Given the description of an element on the screen output the (x, y) to click on. 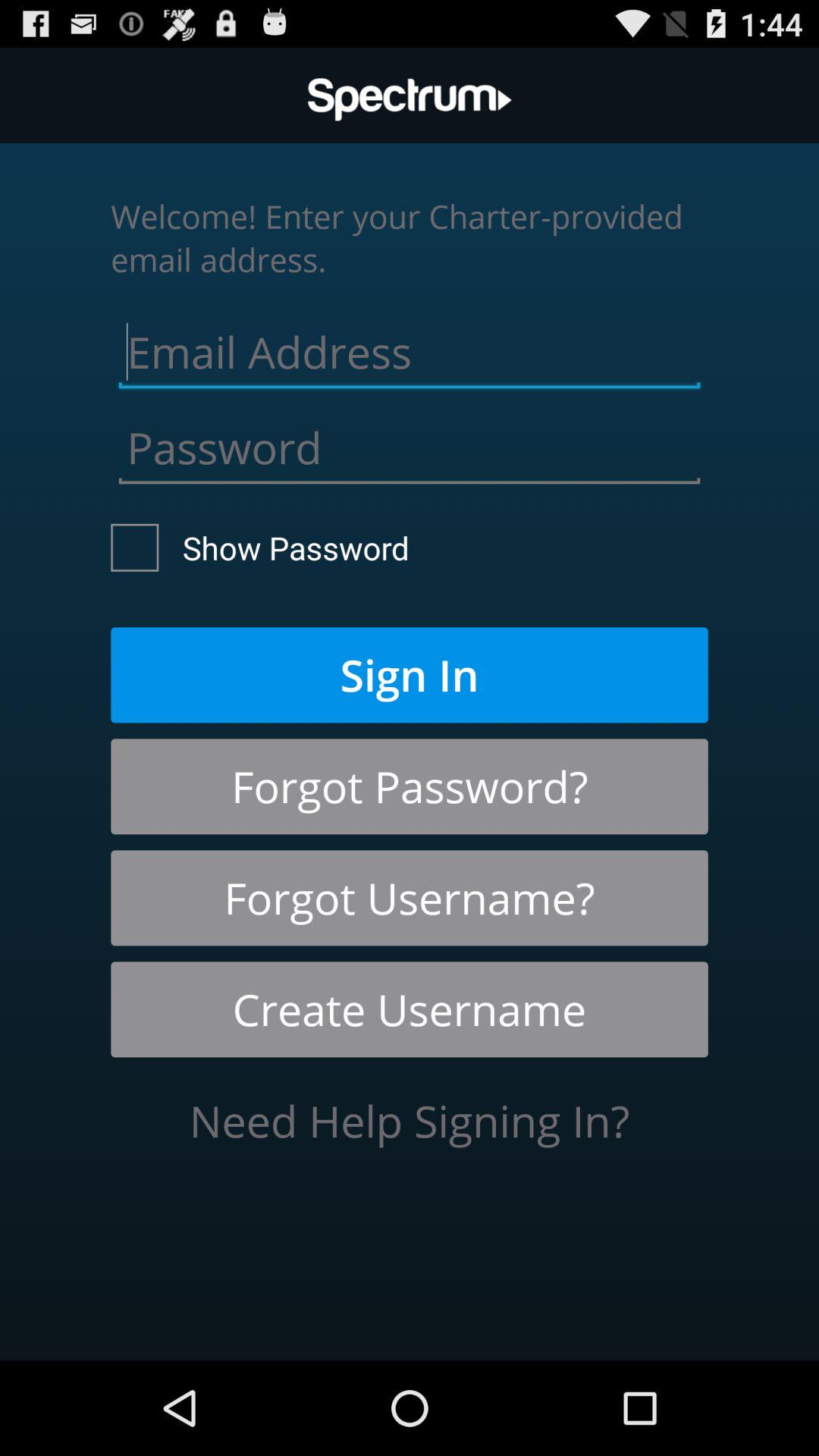
enter email address (409, 348)
